Given the description of an element on the screen output the (x, y) to click on. 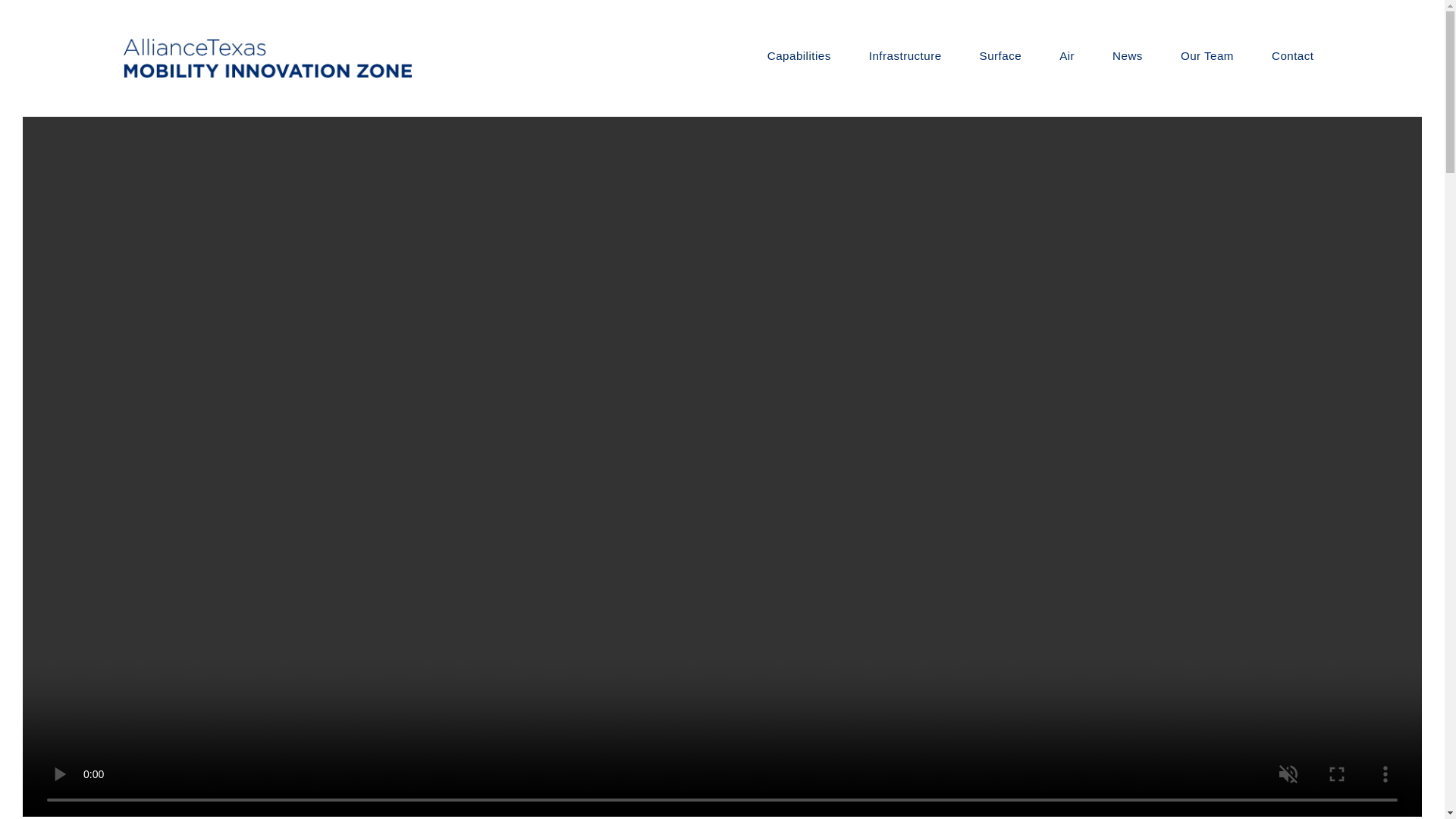
Our Team (1206, 56)
Surface (1000, 56)
Capabilities (798, 56)
Infrastructure (904, 56)
Contact (1292, 56)
